Given the description of an element on the screen output the (x, y) to click on. 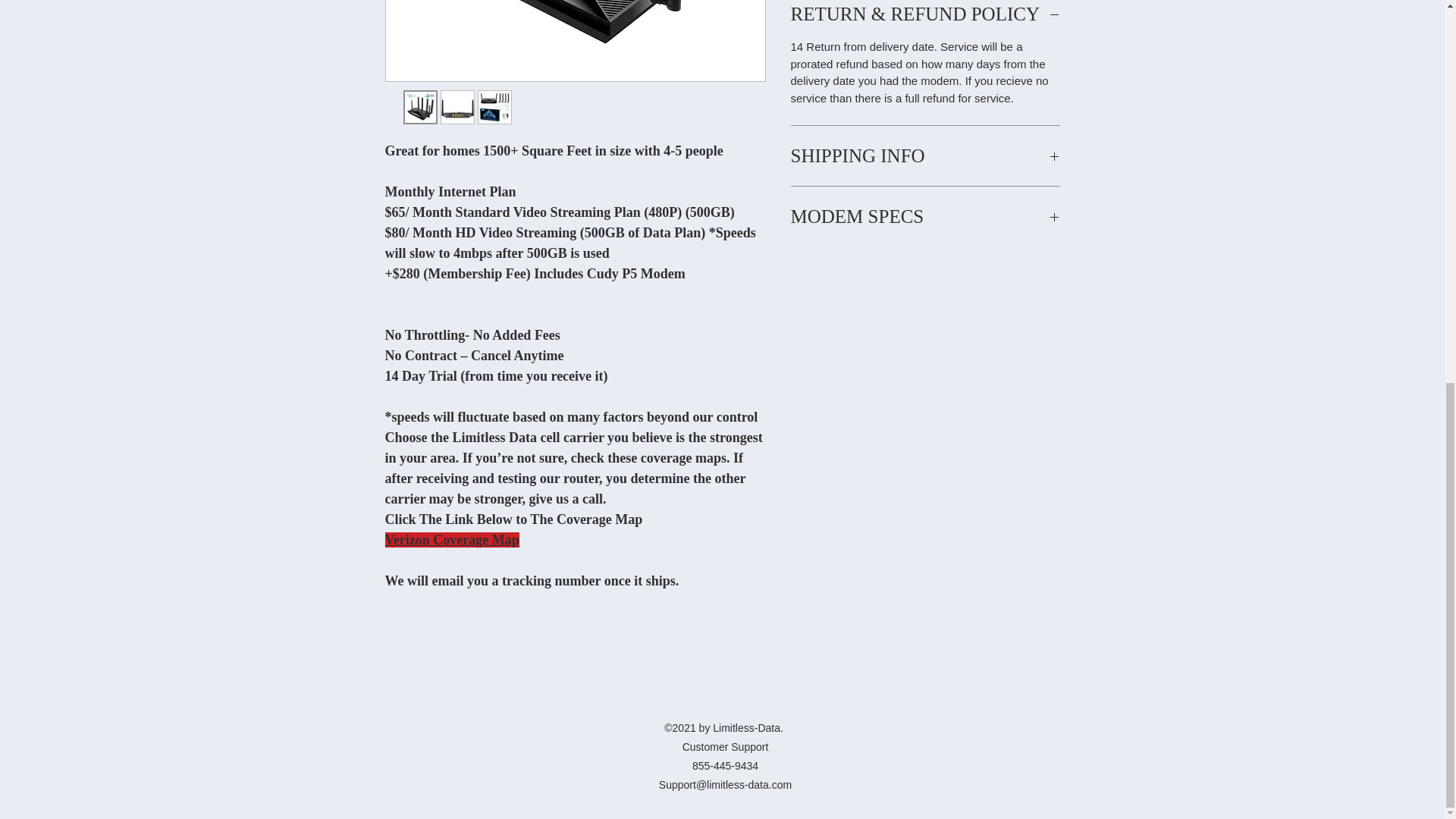
Verizon Coverage Map (452, 539)
MODEM SPECS (924, 216)
SHIPPING INFO (924, 155)
